Given the description of an element on the screen output the (x, y) to click on. 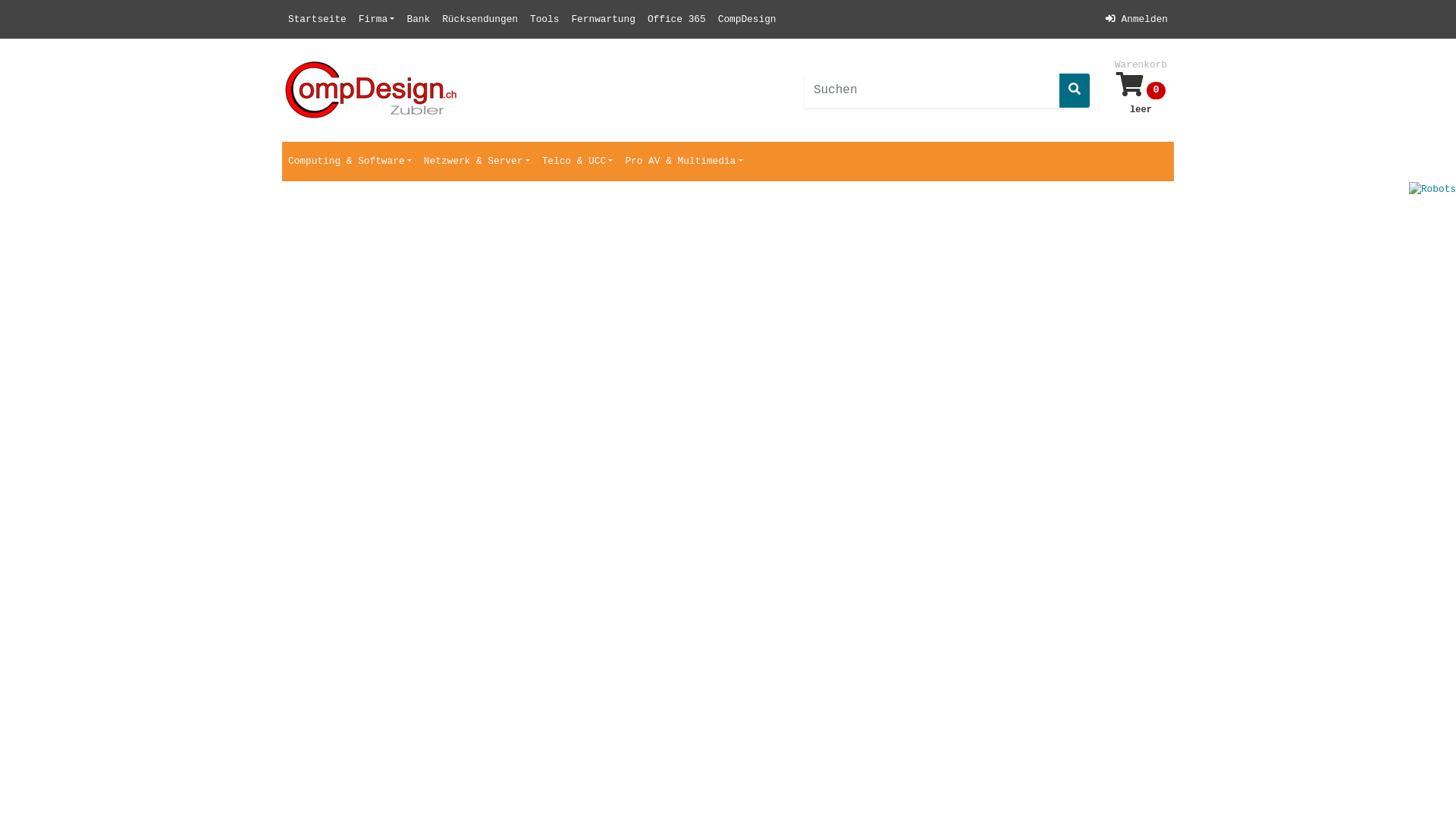
Firma Element type: text (376, 19)
Computing & Software Element type: text (349, 160)
Tools Element type: text (544, 19)
Fernwartung Element type: text (602, 19)
Suche Element type: hover (1074, 90)
Netzwerk & Server Element type: text (476, 160)
CompDesign Element type: text (747, 19)
Warenkorb
0
leer Element type: text (1140, 89)
Bank Element type: text (418, 19)
Anmelden Element type: text (1136, 19)
Office 365 Element type: text (676, 19)
Startseite Element type: text (317, 19)
Telco & UCC Element type: text (577, 160)
Pro AV & Multimedia Element type: text (683, 160)
